Given the description of an element on the screen output the (x, y) to click on. 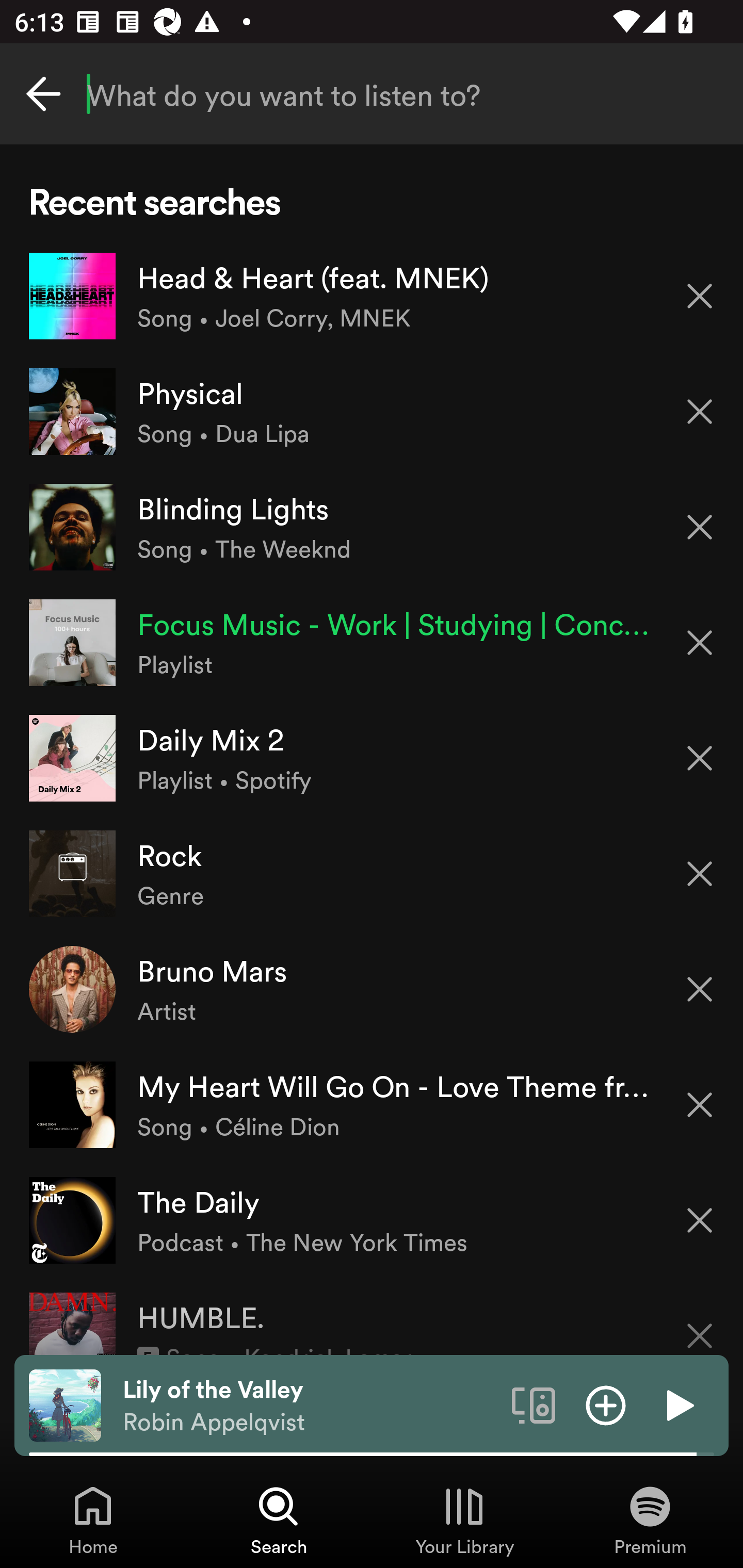
What do you want to listen to? (371, 93)
Cancel (43, 93)
Remove (699, 295)
Physical Song • Dua Lipa Remove (371, 411)
Remove (699, 411)
Blinding Lights Song • The Weeknd Remove (371, 526)
Remove (699, 527)
Remove (699, 642)
Daily Mix 2 Playlist • Spotify Remove (371, 757)
Remove (699, 758)
Rock Genre Remove (371, 873)
Remove (699, 874)
Bruno Mars Artist Remove (371, 989)
Remove (699, 989)
Remove (699, 1104)
The Daily Podcast • The New York Times Remove (371, 1219)
Remove (699, 1220)
HUMBLE. Explicit Song • Kendrick Lamar Remove (371, 1315)
Remove (699, 1323)
Lily of the Valley Robin Appelqvist (309, 1405)
The cover art of the currently playing track (64, 1404)
Connect to a device. Opens the devices menu (533, 1404)
Add item (605, 1404)
Play (677, 1404)
Home, Tab 1 of 4 Home Home (92, 1519)
Search, Tab 2 of 4 Search Search (278, 1519)
Your Library, Tab 3 of 4 Your Library Your Library (464, 1519)
Premium, Tab 4 of 4 Premium Premium (650, 1519)
